Given the description of an element on the screen output the (x, y) to click on. 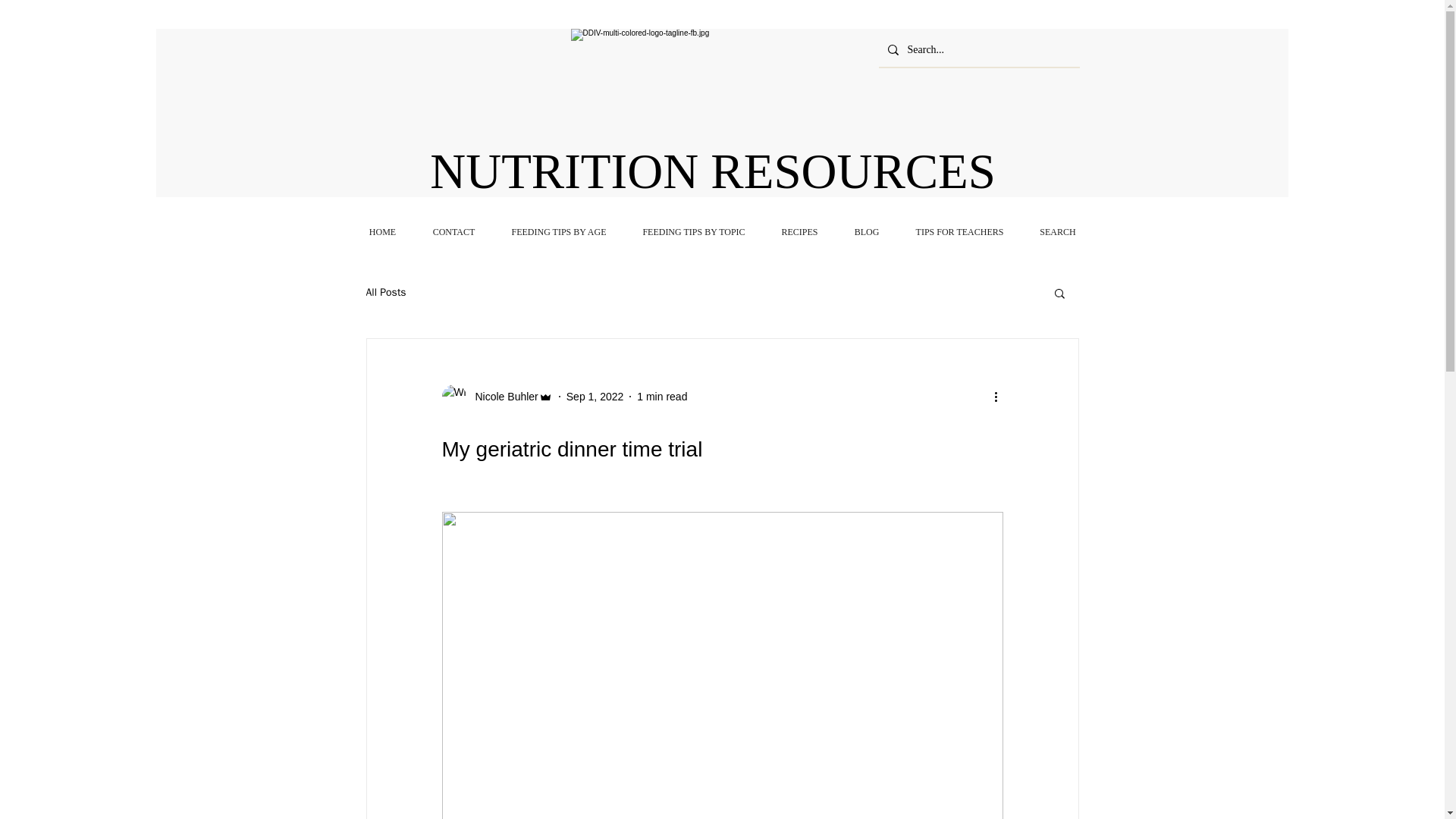
TIPS FOR TEACHERS (960, 232)
1 min read (662, 395)
FEEDING TIPS BY TOPIC (693, 232)
 NUTRITION RESOURCES (706, 171)
Nicole Buhler (501, 396)
RECIPES (798, 232)
Sep 1, 2022 (595, 395)
BLOG (865, 232)
HOME (381, 232)
CONTACT (453, 232)
FEEDING TIPS BY AGE (558, 232)
Nicole Buhler (496, 396)
SEARCH (1058, 232)
All Posts (385, 292)
